Given the description of an element on the screen output the (x, y) to click on. 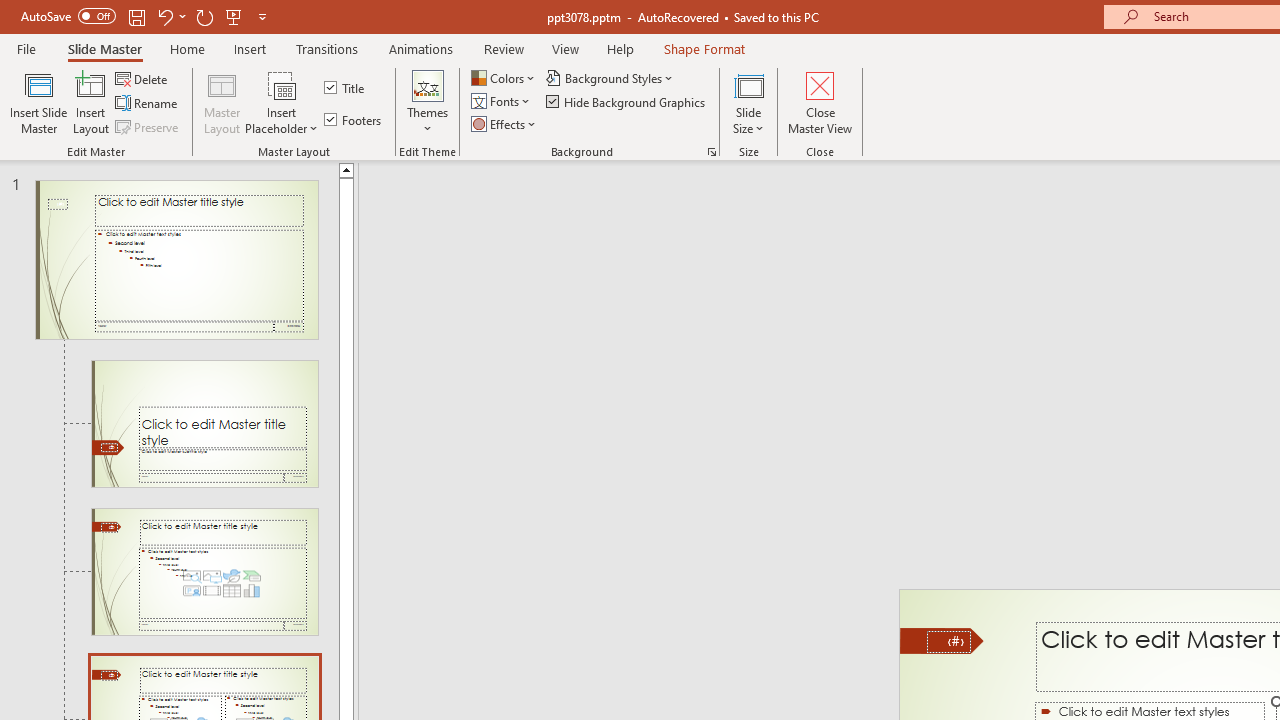
Master Layout... (221, 102)
Rename (148, 103)
Freeform 11 (941, 640)
Slide Title and Content Layout: used by no slides (204, 572)
Title (346, 87)
Insert Placeholder (282, 102)
Background Styles (610, 78)
Insert Layout (91, 102)
Format Background... (711, 151)
